Given the description of an element on the screen output the (x, y) to click on. 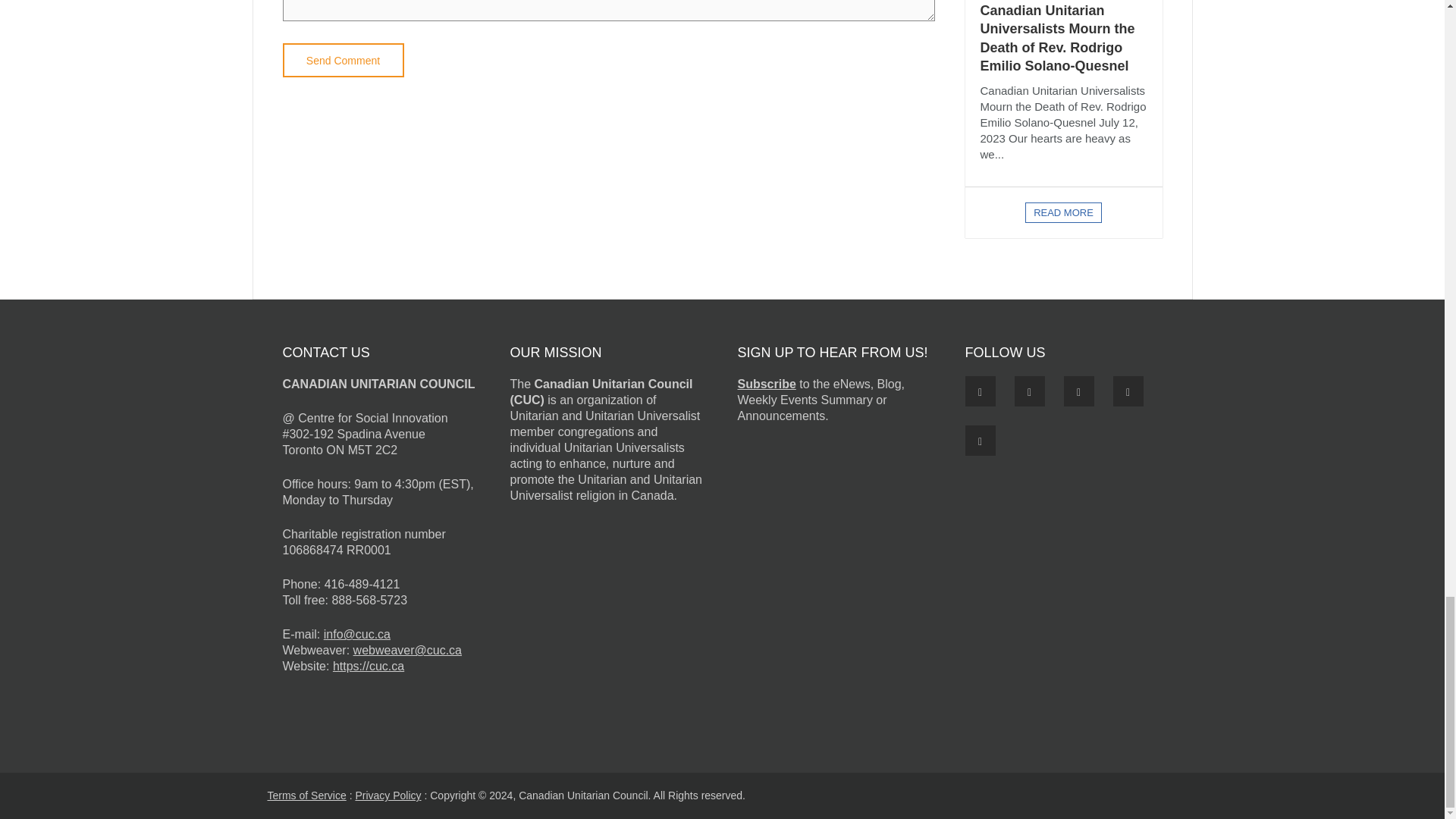
Send Comment (342, 59)
